Given the description of an element on the screen output the (x, y) to click on. 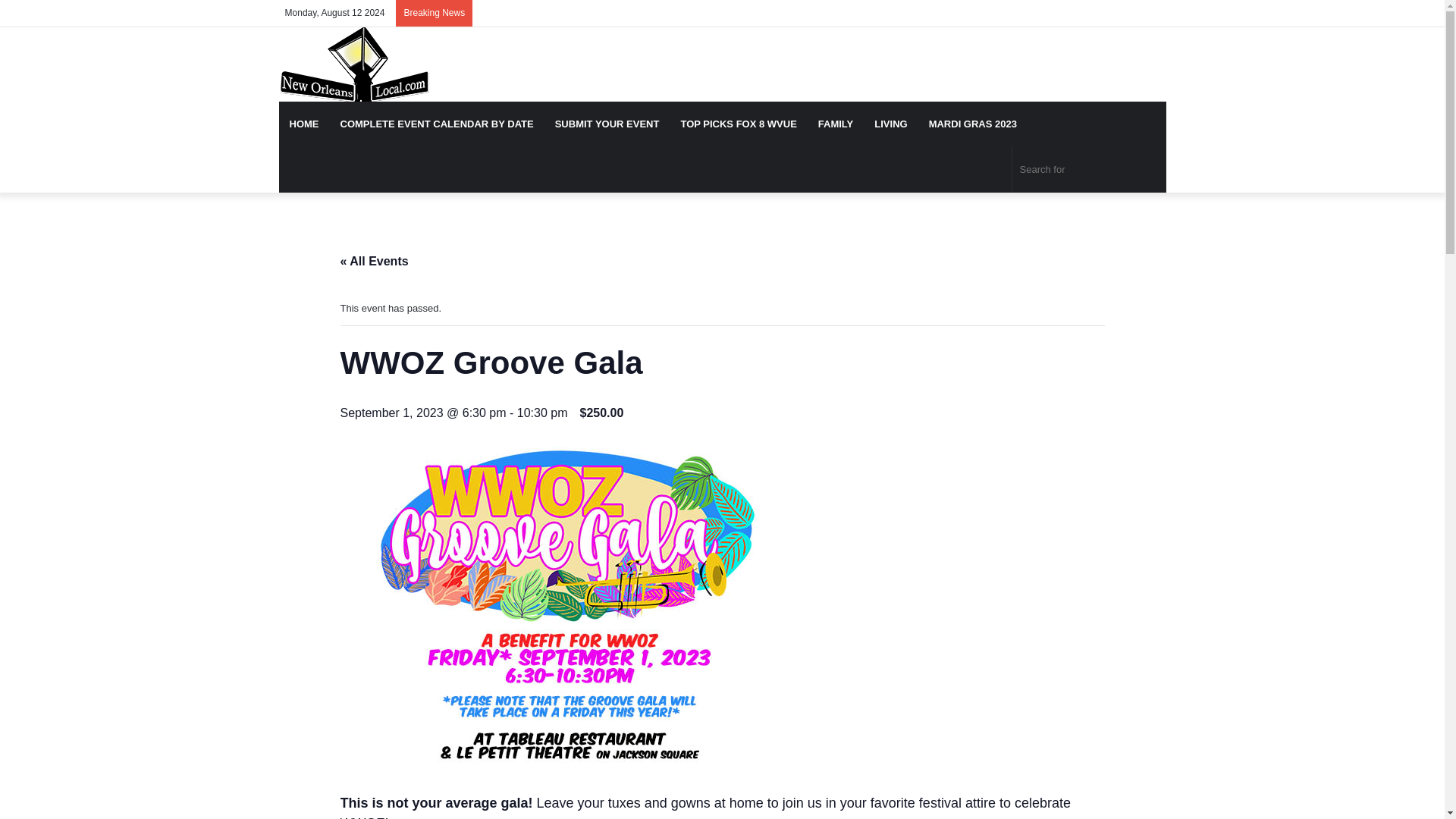
COMPLETE EVENT CALENDAR BY DATE (436, 124)
SUBMIT YOUR EVENT (606, 124)
Search for (1088, 169)
TOP PICKS FOX 8 WVUE (737, 124)
HOME (304, 124)
LIVING (890, 124)
MARDI GRAS 2023 (972, 124)
FAMILY (835, 124)
New Orleans Local News and Events (354, 64)
